Given the description of an element on the screen output the (x, y) to click on. 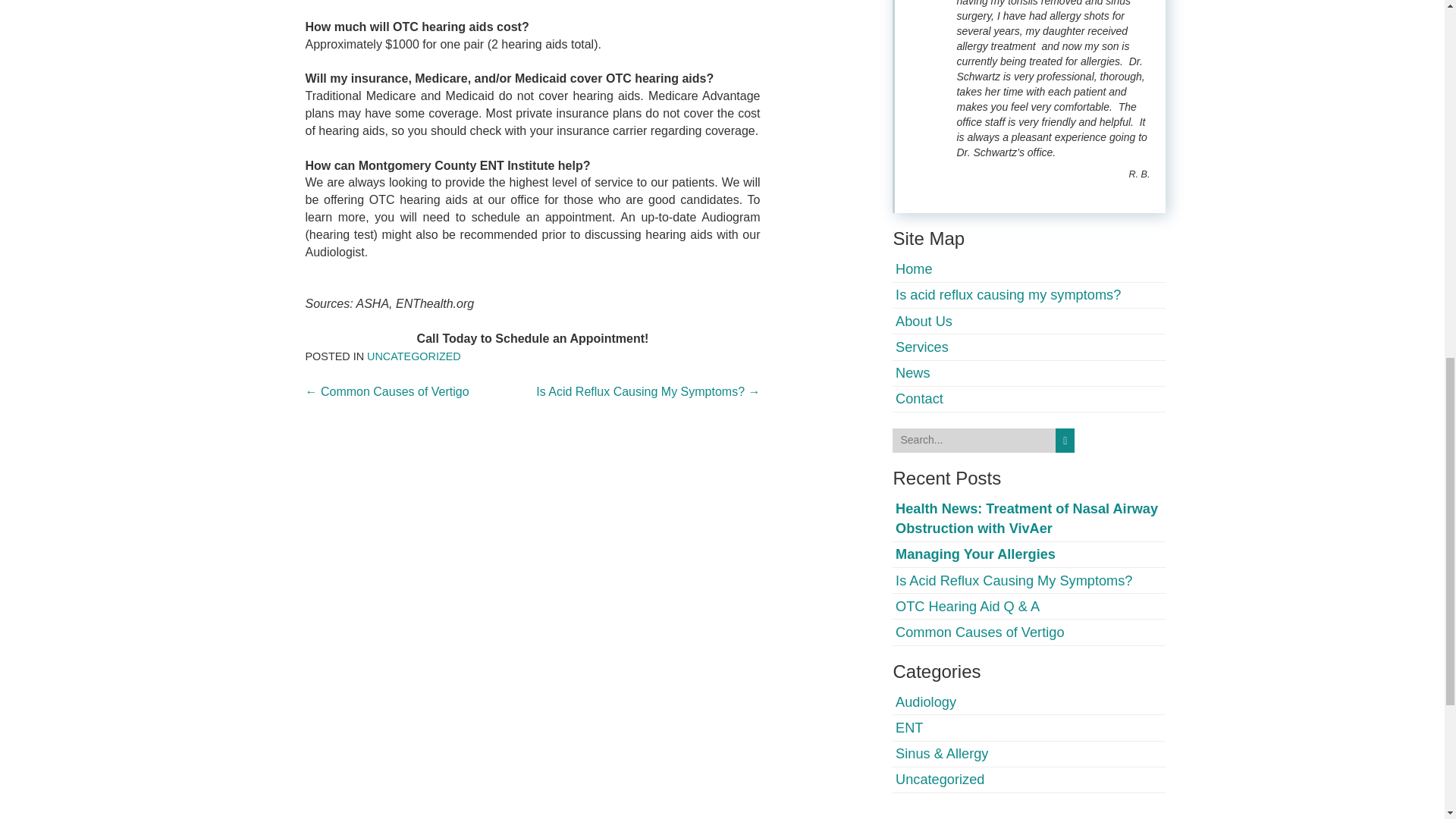
UNCATEGORIZED (413, 356)
Managing Your Allergies (975, 554)
About Us (923, 321)
Contact (919, 398)
Is Acid Reflux Causing My Symptoms? (1013, 580)
News (912, 372)
Services (922, 346)
Is acid reflux causing my symptoms? (1008, 294)
Home (914, 268)
